Given the description of an element on the screen output the (x, y) to click on. 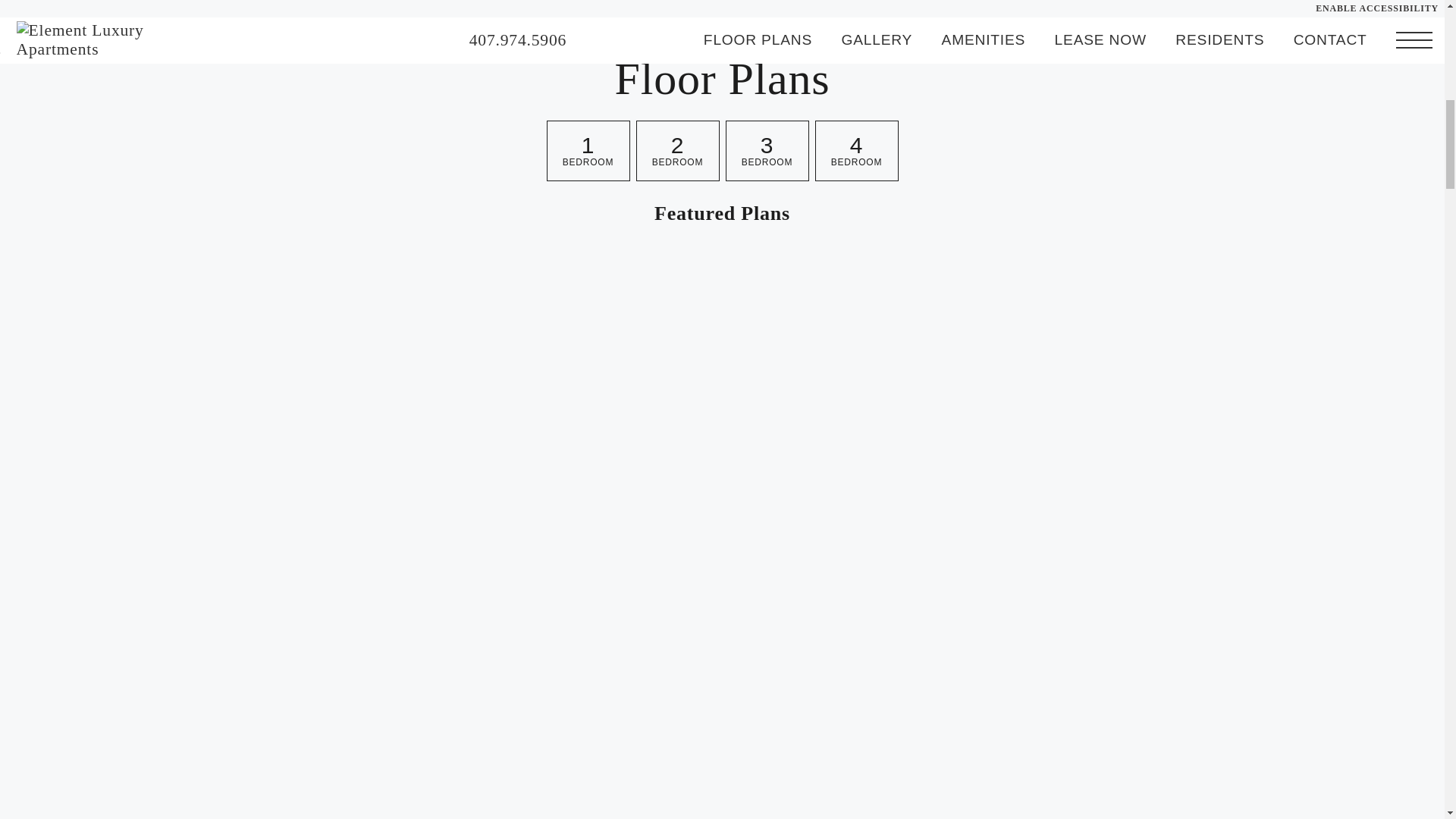
2 Bedroom (676, 150)
Previous (115, 404)
Next (1328, 404)
4 Bedroom (855, 150)
3 Bedroom (766, 150)
1 Bedroom (587, 150)
